Given the description of an element on the screen output the (x, y) to click on. 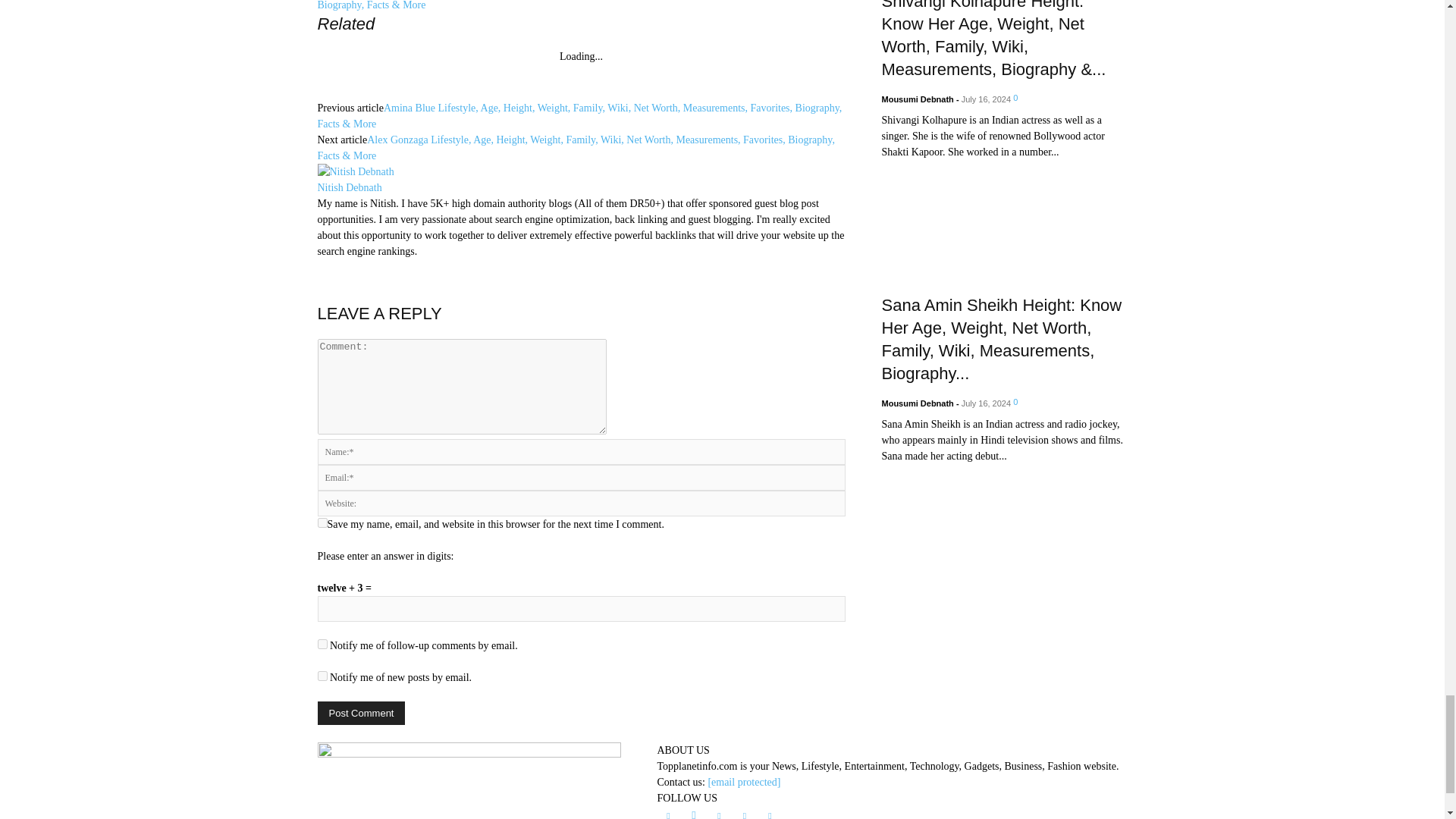
subscribe (321, 675)
subscribe (321, 644)
yes (321, 522)
Post Comment (360, 712)
